Given the description of an element on the screen output the (x, y) to click on. 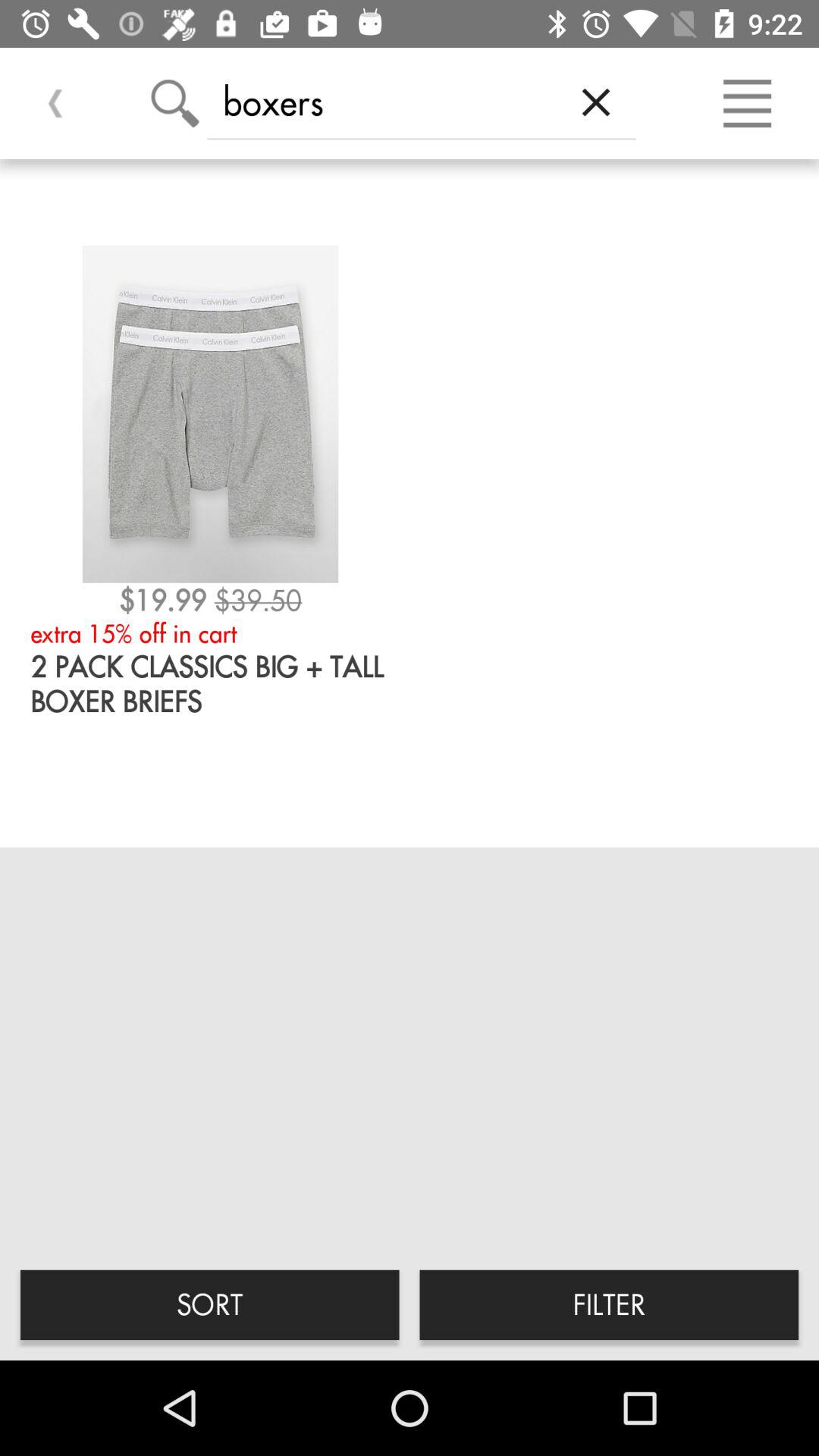
launch the sort icon (209, 1304)
